Given the description of an element on the screen output the (x, y) to click on. 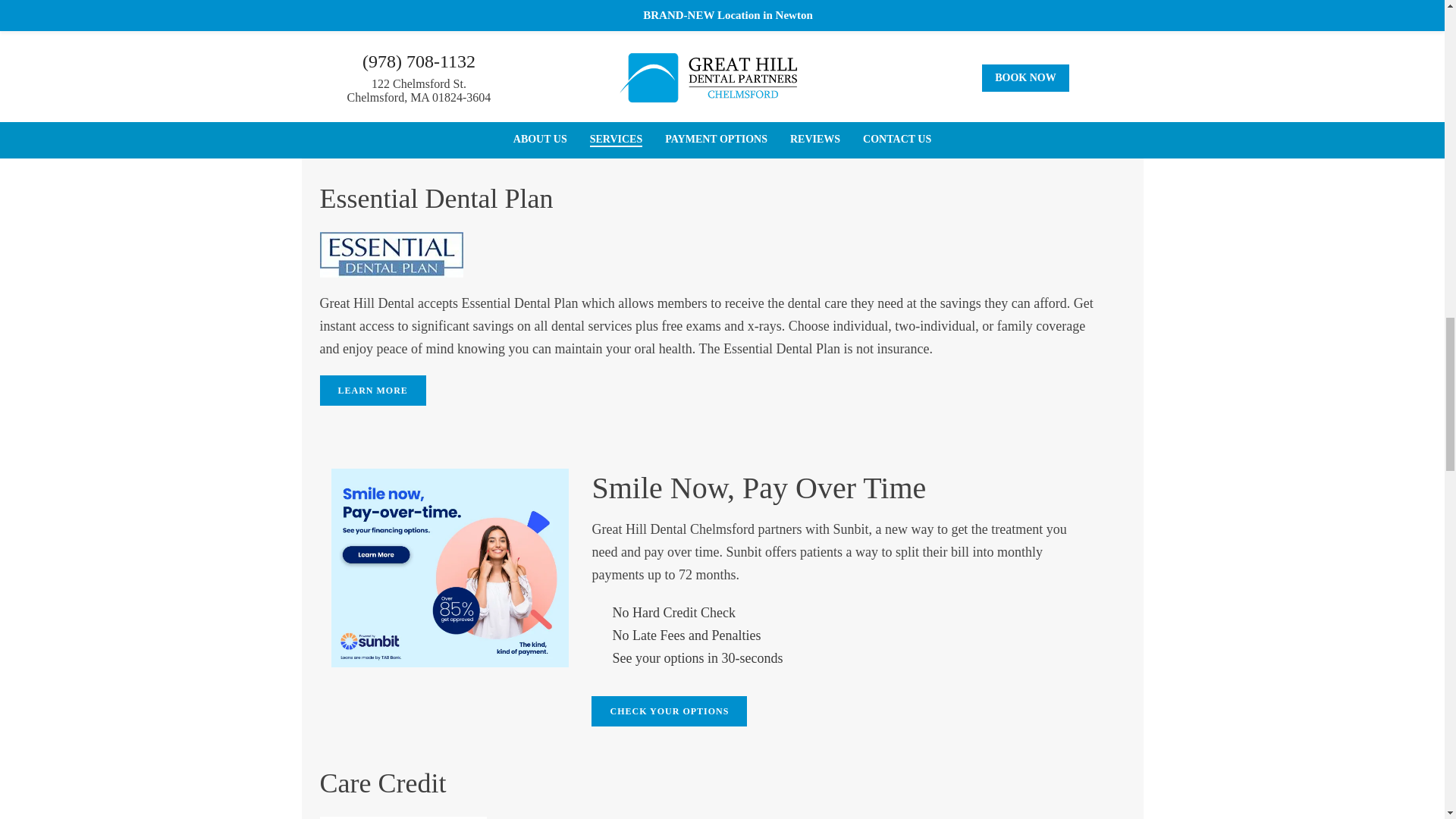
LEARN MORE (373, 390)
CHECK YOUR OPTIONS (668, 711)
